Given the description of an element on the screen output the (x, y) to click on. 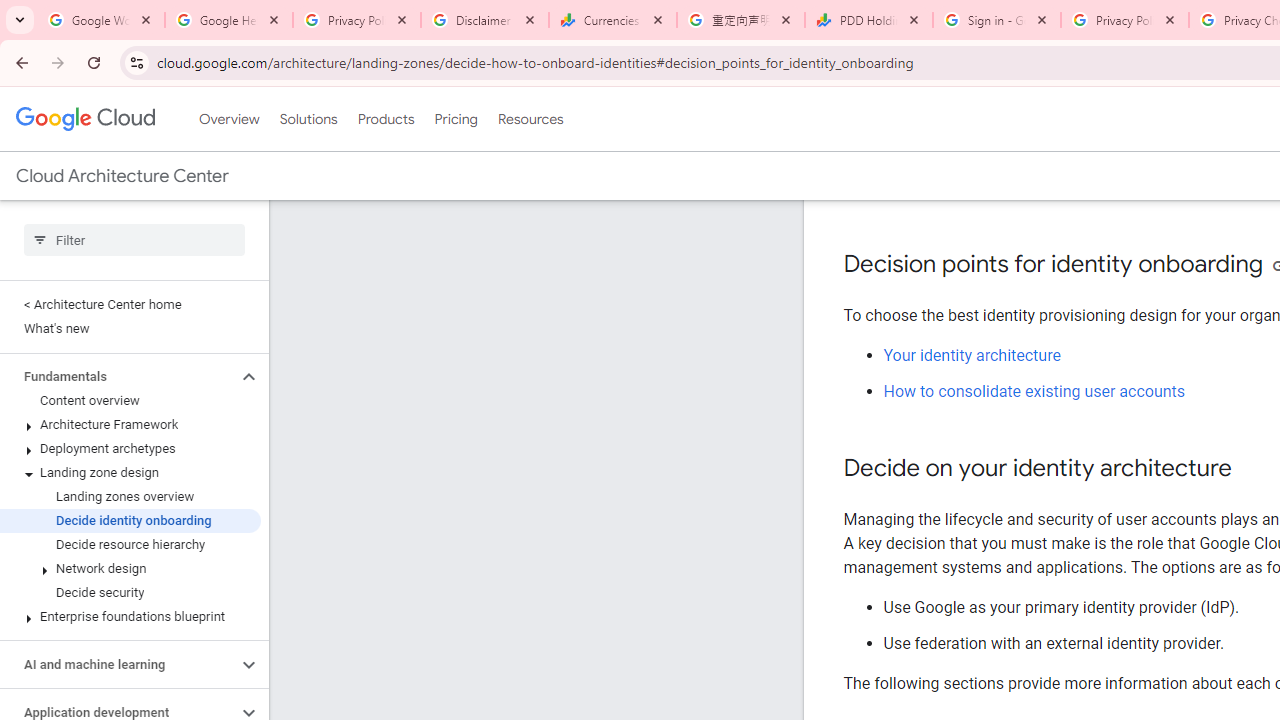
PDD Holdings Inc - ADR (PDD) Price & News - Google Finance (869, 20)
Architecture Framework (130, 425)
Google Cloud (84, 118)
Decide resource hierarchy (130, 544)
Products (385, 119)
Decide security (130, 592)
How to consolidate existing user accounts (1034, 391)
Currencies - Google Finance (613, 20)
Fundamentals (118, 376)
